Given the description of an element on the screen output the (x, y) to click on. 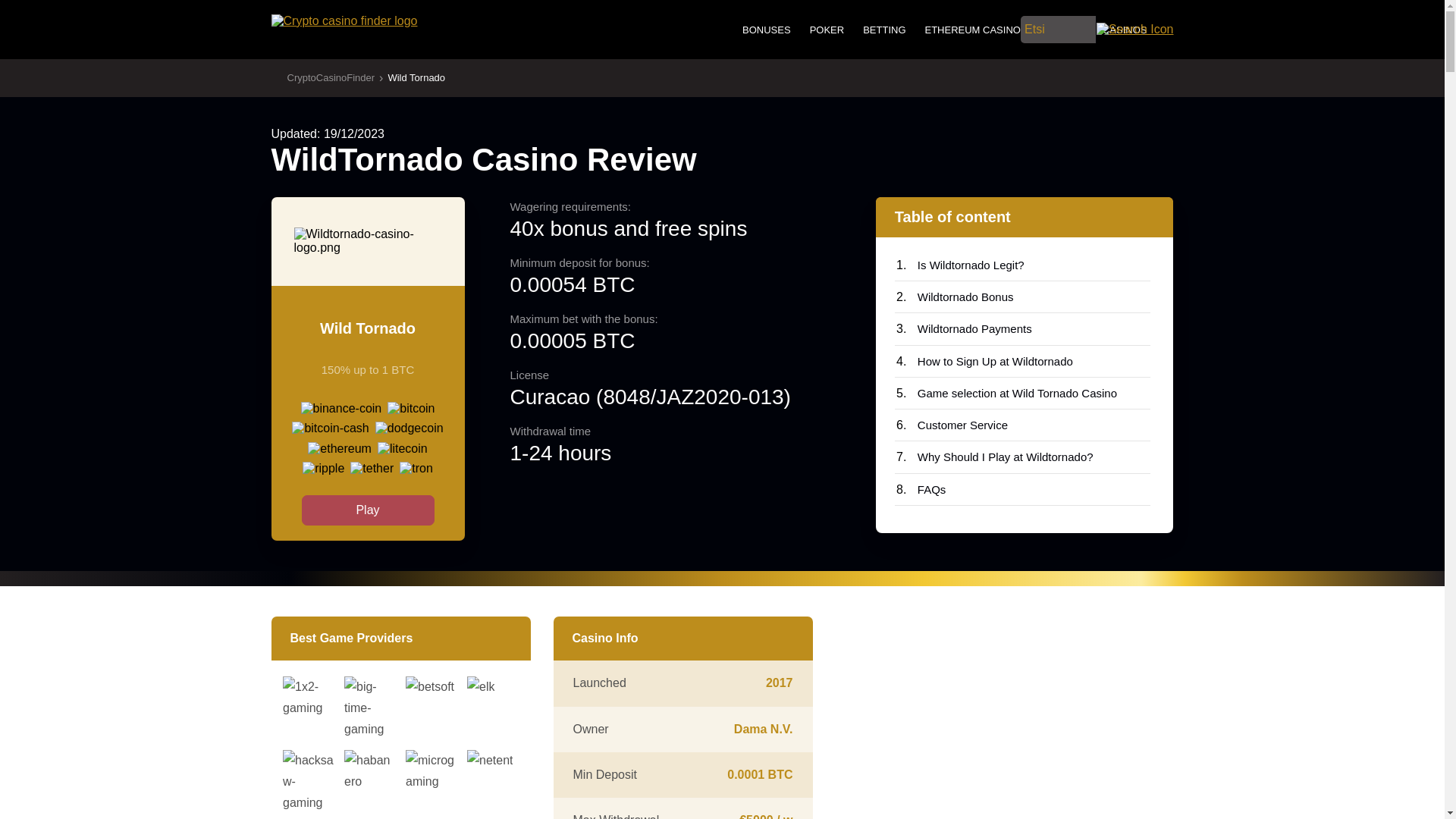
How to Sign Up at Wildtornado (1023, 361)
Wild Tornado (416, 78)
Wildtornado Bonus (1023, 296)
Is Wildtornado Legit? (1023, 265)
CryptoCasinoFinder (322, 78)
FAQs (1023, 490)
Customer Service (1023, 425)
Game selection at Wild Tornado Casino (1023, 393)
Play (367, 510)
DOGECOIN CASINOS (1096, 30)
